Given the description of an element on the screen output the (x, y) to click on. 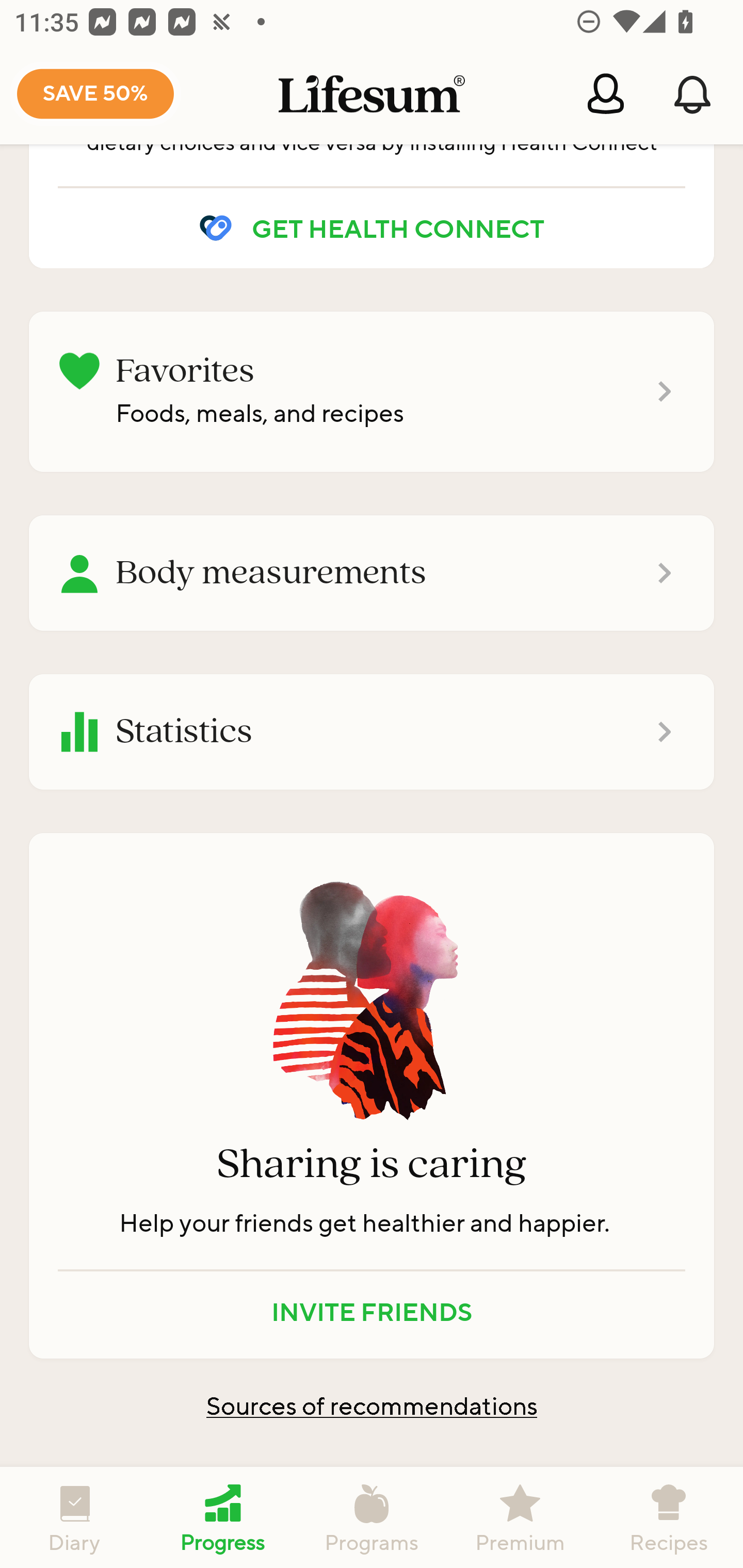
GET HEALTH CONNECT (371, 228)
Favorites Foods, meals, and recipes (371, 391)
Body measurements (371, 572)
Statistics (371, 732)
INVITE FRIENDS (371, 1310)
Sources of recommendations (371, 1405)
Diary (74, 1517)
Programs (371, 1517)
Premium (519, 1517)
Recipes (668, 1517)
